Given the description of an element on the screen output the (x, y) to click on. 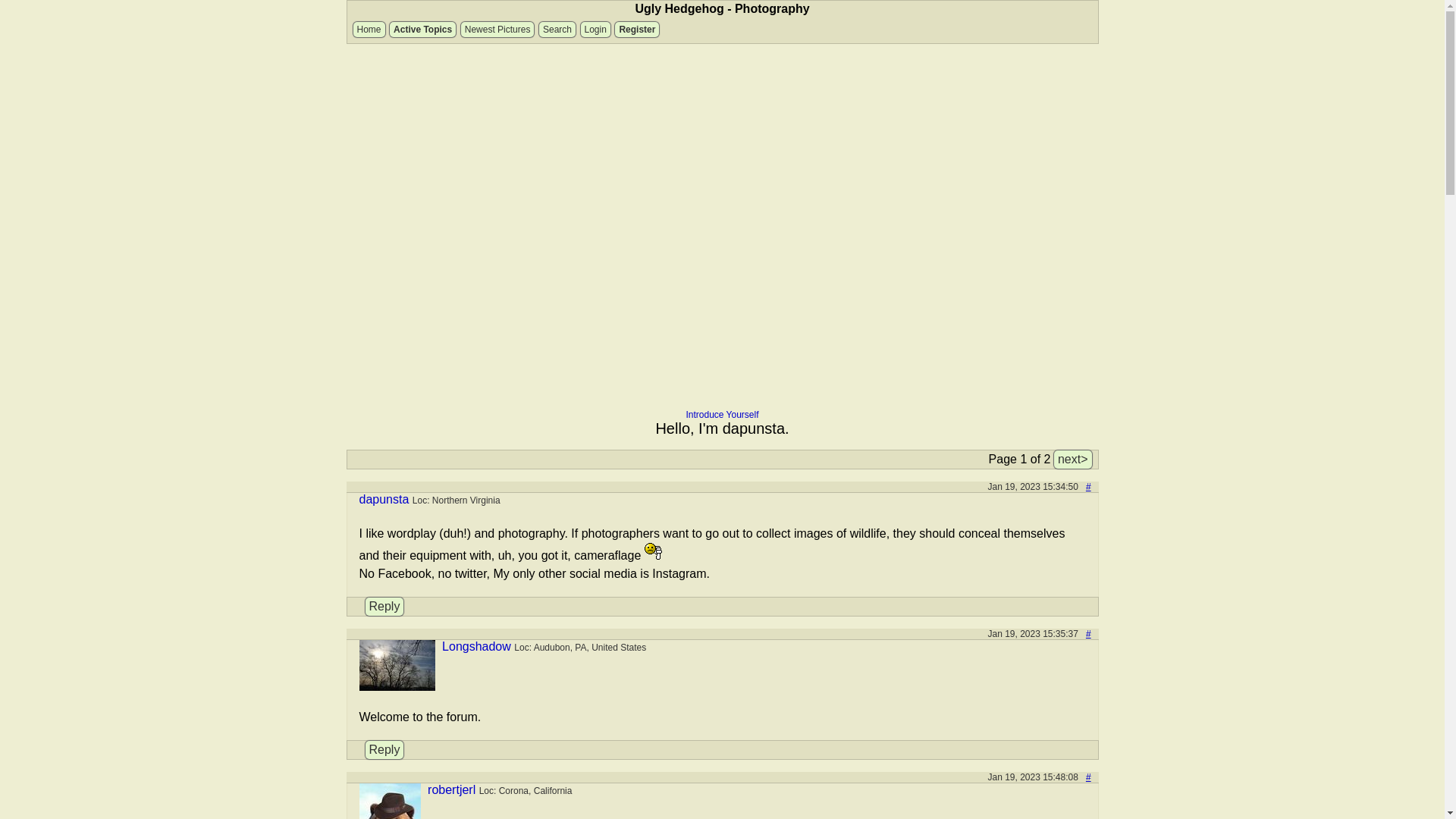
Actively discussed topics in the past 24 hours (422, 29)
Introduce Yourself (721, 414)
Active Topics (422, 29)
Register (636, 29)
Reply (384, 750)
Reply (384, 606)
Home (369, 29)
robertjerl (452, 789)
dapunsta (384, 499)
Longshadow (476, 645)
Search (556, 29)
Newest Pictures (497, 29)
Login (595, 29)
